Given the description of an element on the screen output the (x, y) to click on. 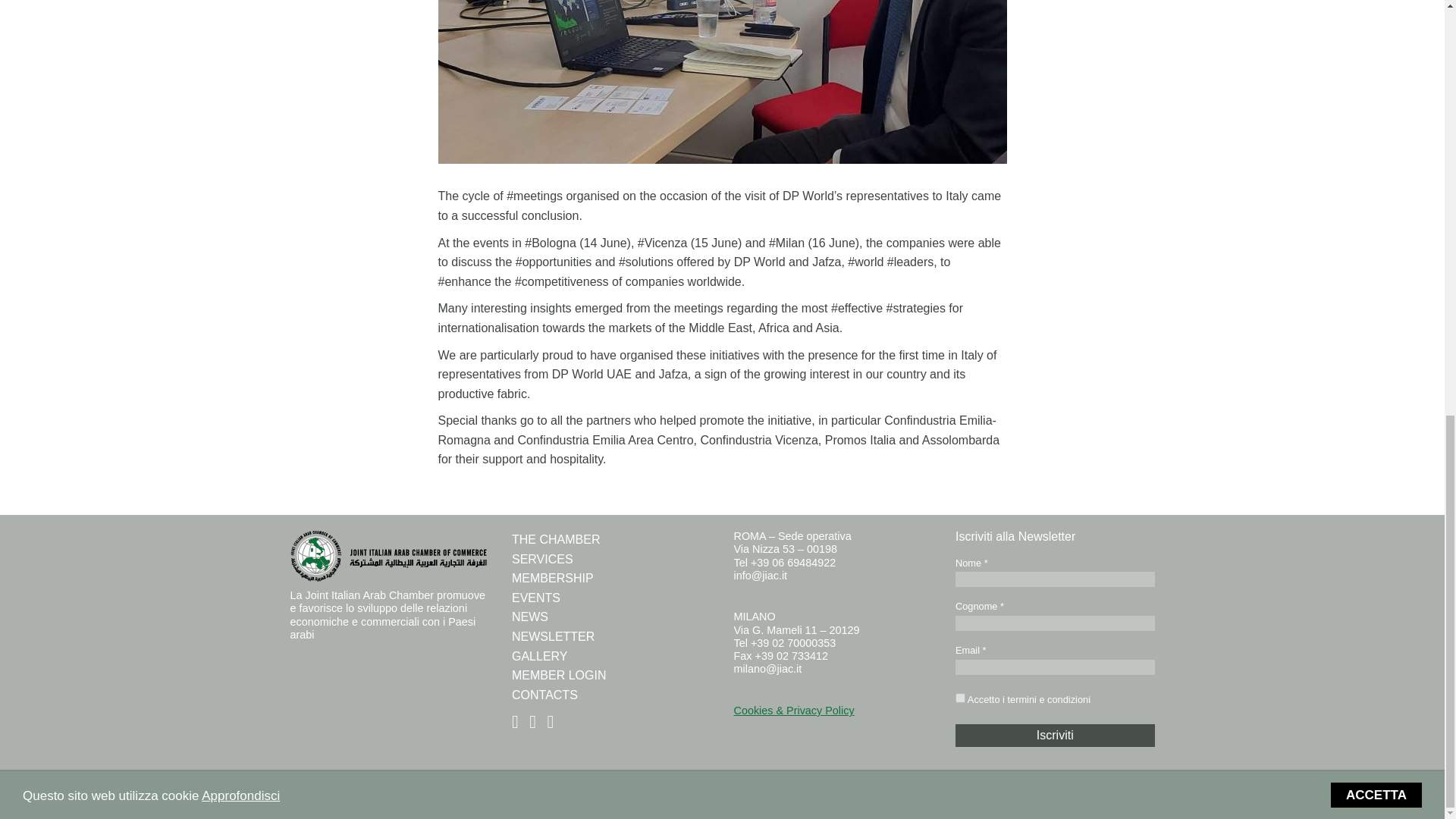
Email (1054, 667)
Cognome (1054, 622)
Iscriviti (1054, 734)
Nome (1054, 579)
on (960, 697)
